Given the description of an element on the screen output the (x, y) to click on. 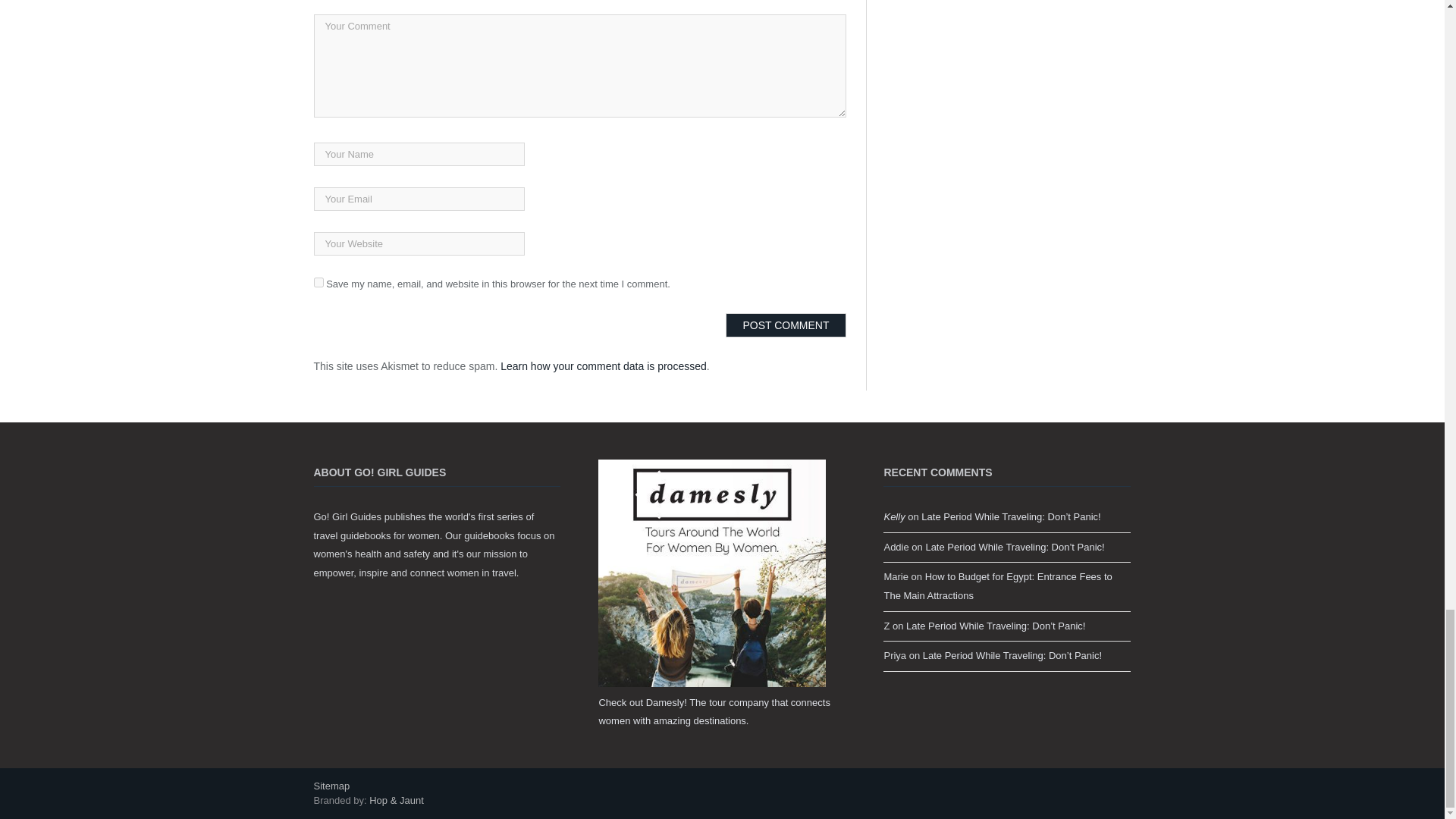
yes (318, 282)
Post Comment (785, 324)
